Given the description of an element on the screen output the (x, y) to click on. 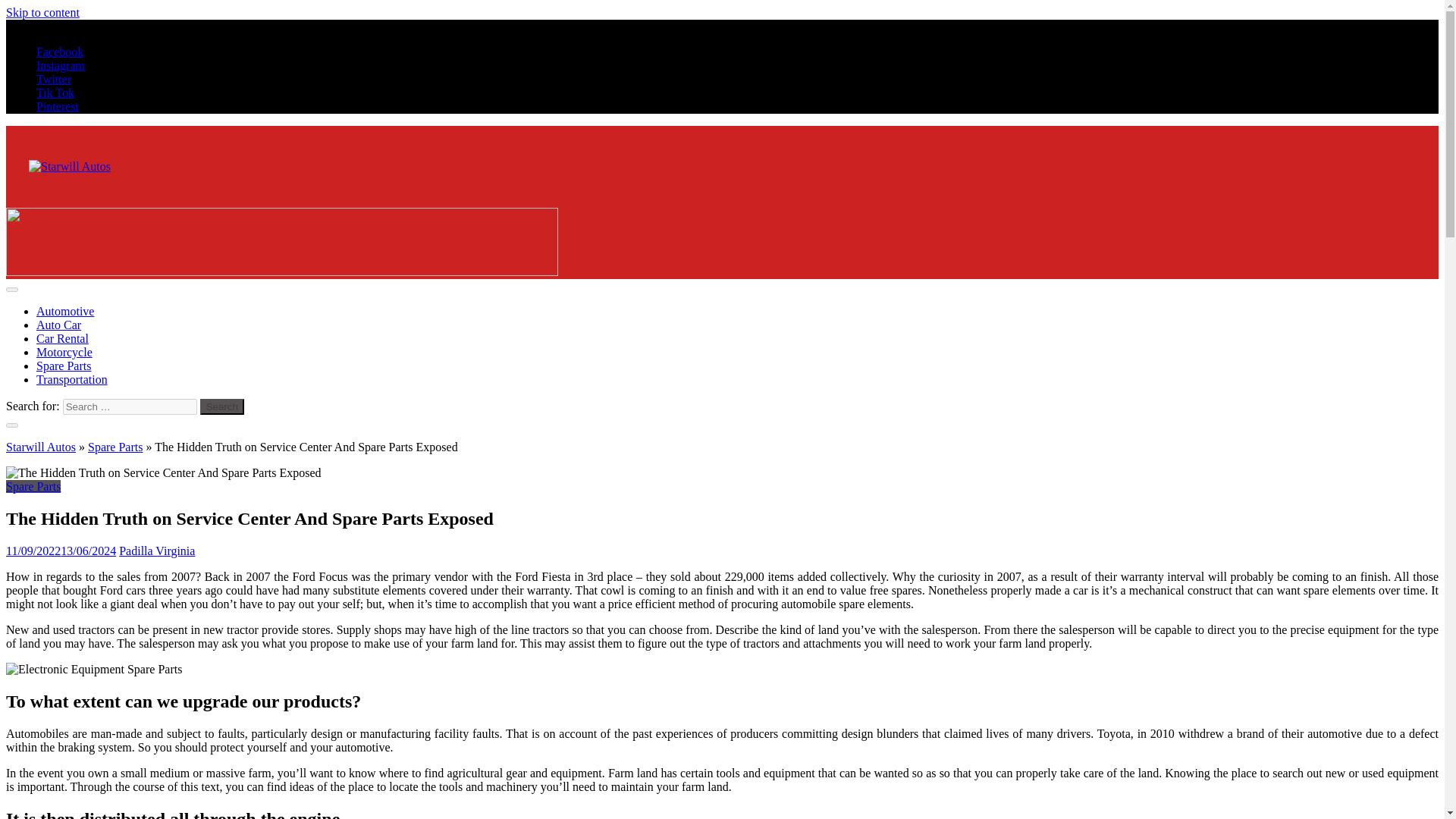
Automotive (65, 310)
Instagram (60, 65)
Car Rental (62, 338)
Transportation (71, 379)
Tik Tok (55, 92)
Motorcycle (64, 351)
Padilla Virginia (157, 550)
Auto Car (58, 324)
Twitter (53, 78)
Skip to content (42, 11)
